Given the description of an element on the screen output the (x, y) to click on. 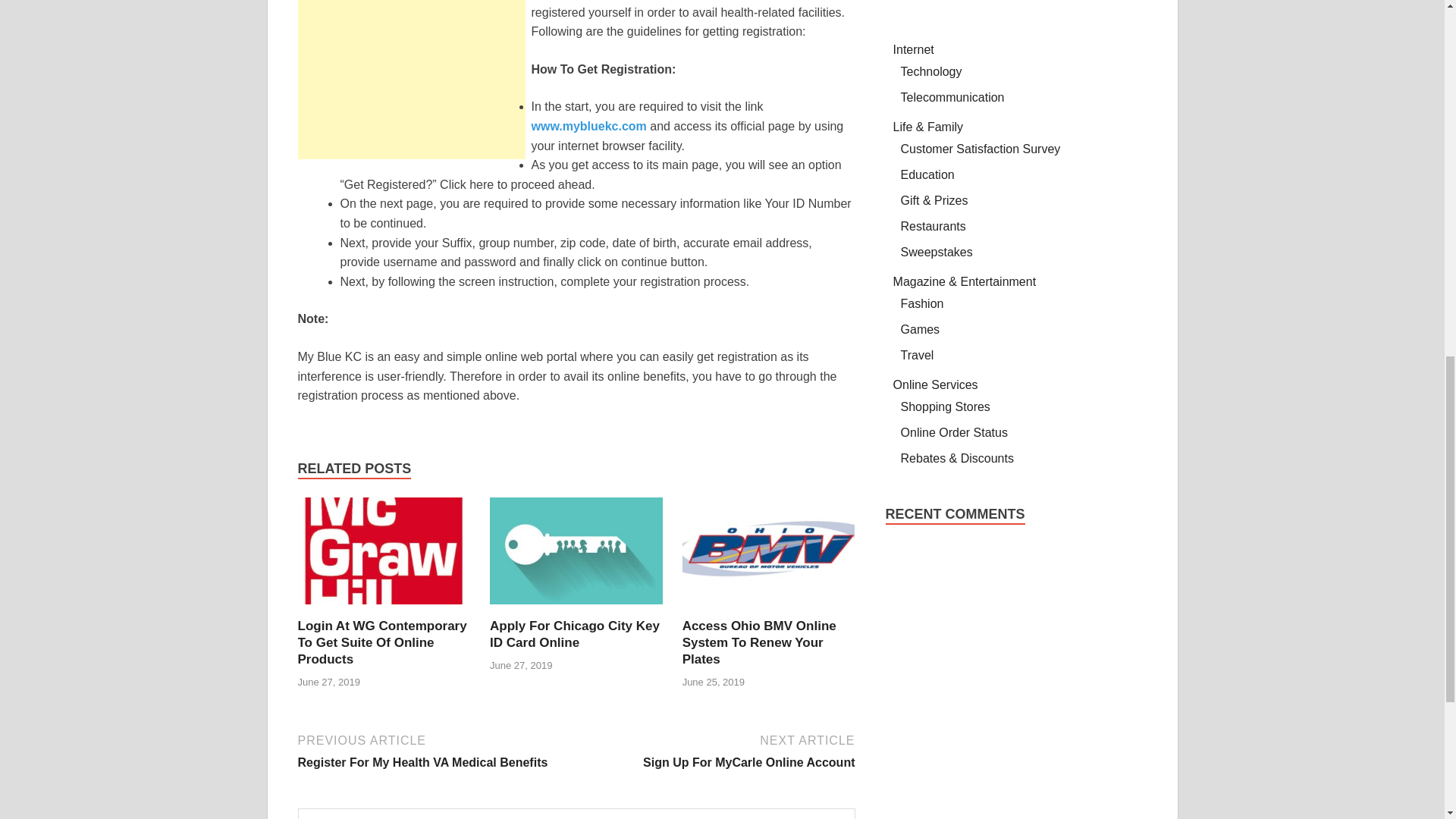
Login At WG Contemporary To Get Suite Of Online Products (381, 642)
Apply For Chicago City Key ID Card Online (574, 634)
Access Ohio BMV Online System To Renew Your Plates (434, 750)
Advertisement (758, 642)
Access Ohio BMV Online System To Renew Your Plates (410, 79)
www.mybluekc.com (769, 608)
Login At WG Contemporary To Get Suite Of Online Products (588, 125)
Login At WG Contemporary To Get Suite Of Online Products (383, 608)
